Given the description of an element on the screen output the (x, y) to click on. 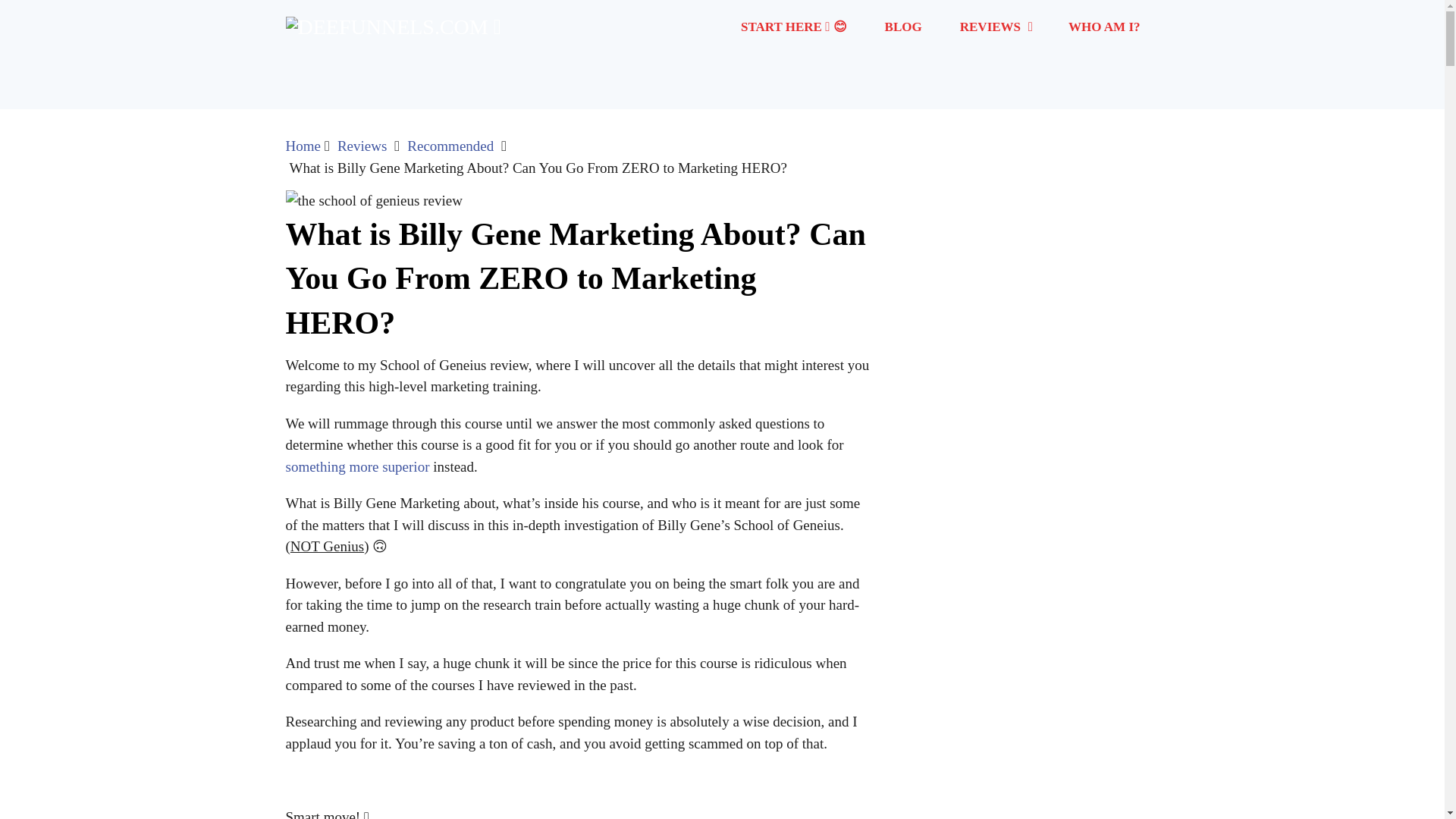
BLOG (903, 27)
Reviews (362, 145)
Home (302, 145)
Recommended (450, 145)
REVIEWS (994, 27)
something more superior (357, 466)
WHO AM I? (1103, 27)
